Given the description of an element on the screen output the (x, y) to click on. 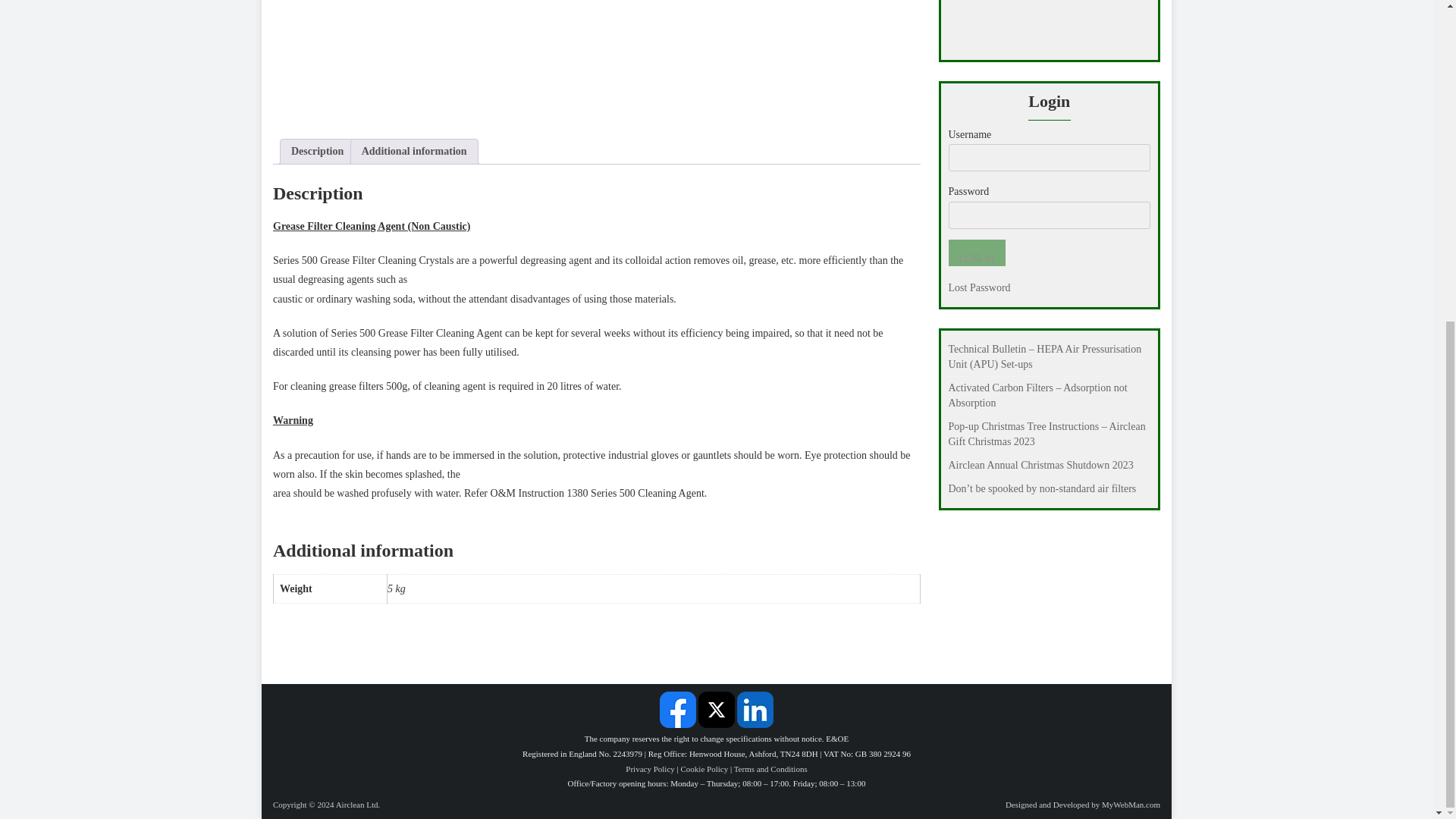
Log In (975, 252)
